Given the description of an element on the screen output the (x, y) to click on. 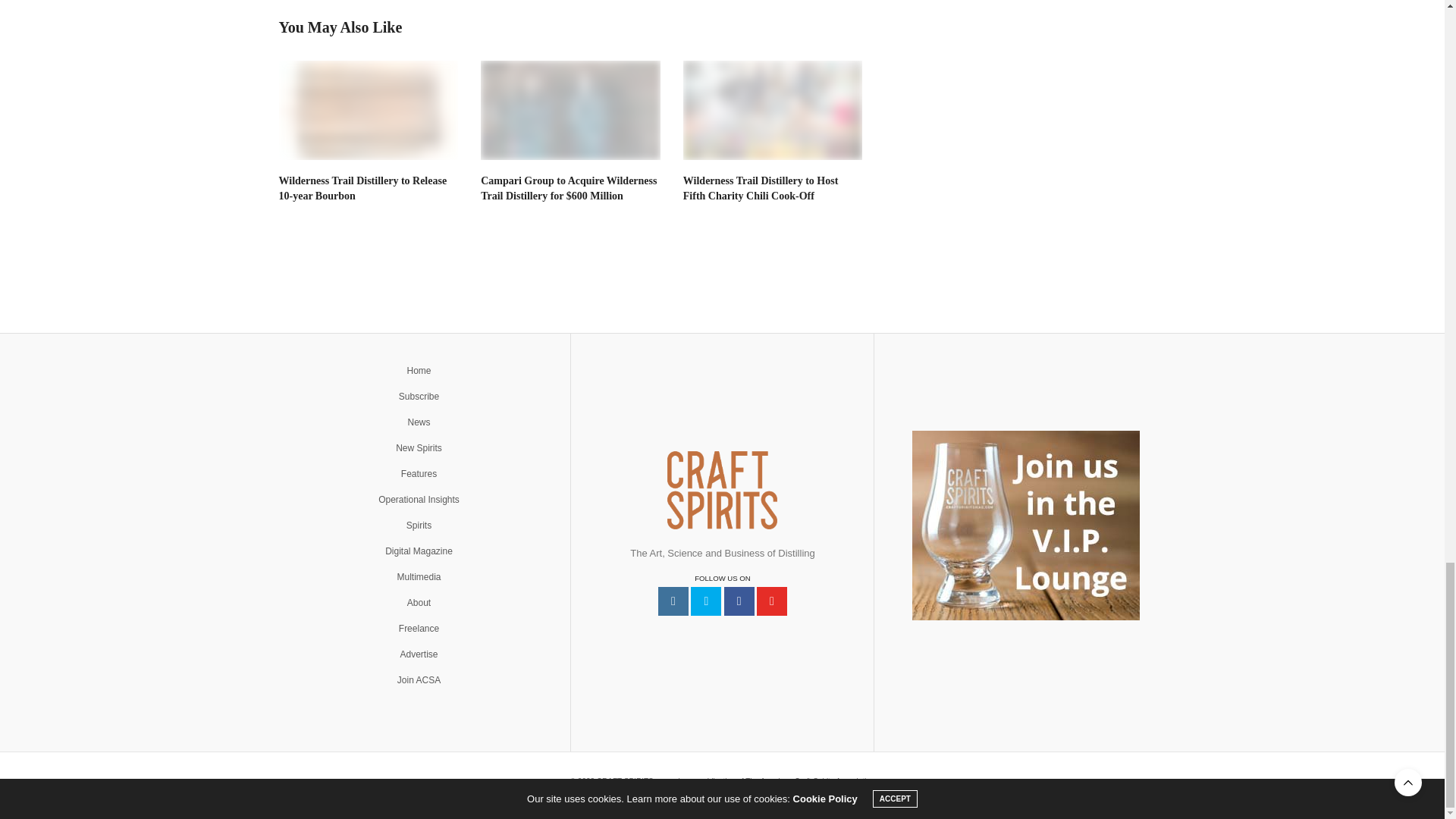
Wilderness Trail Distillery to Release 10-year Bourbon (362, 188)
Wilderness Trail Distillery to Release 10-year Bourbon (368, 109)
